Given the description of an element on the screen output the (x, y) to click on. 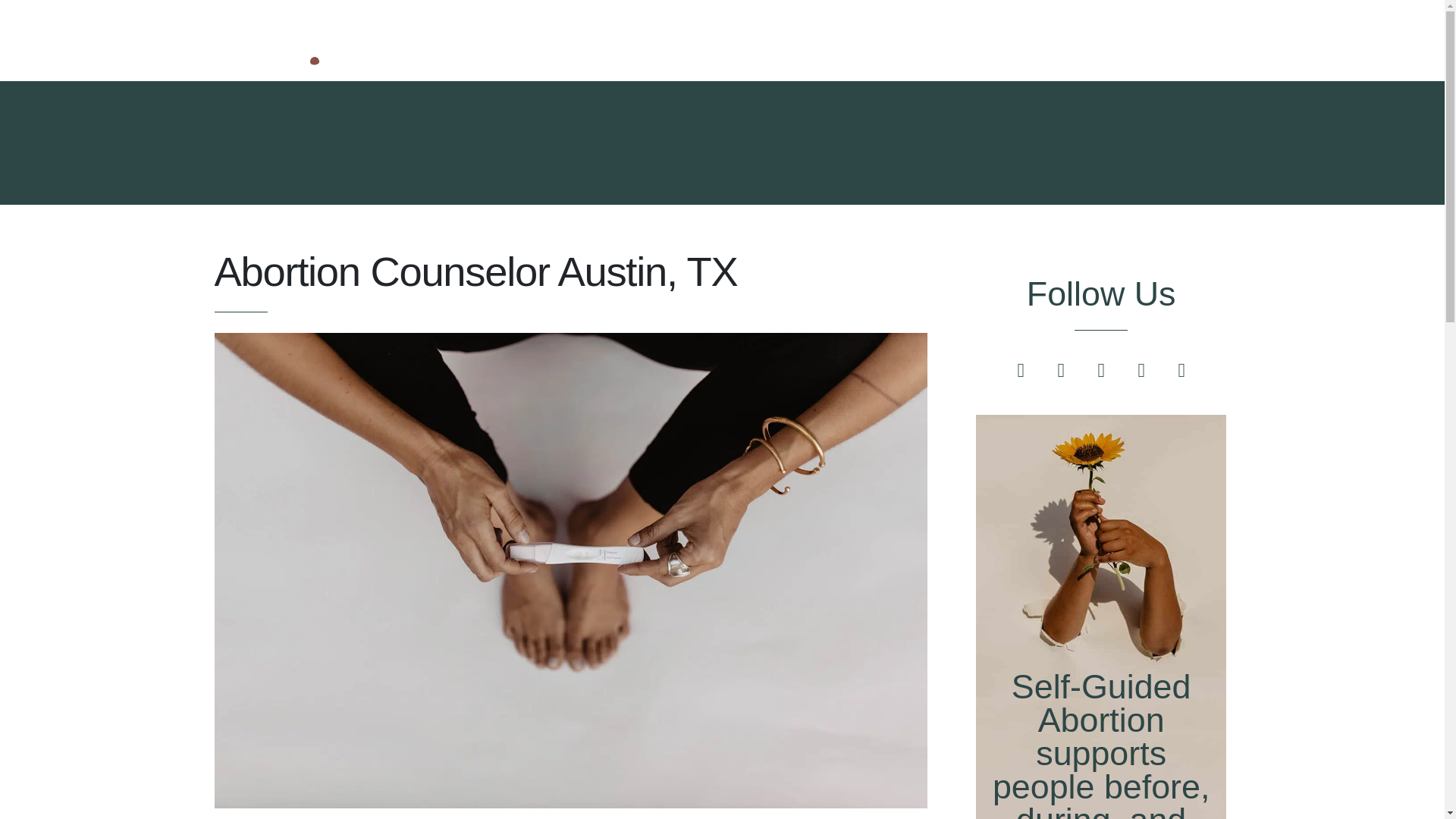
Get Abortion Doula Support (997, 39)
How to Self-Manage Your Abortion With Pills (597, 39)
Abortion Doula Training (1156, 39)
